Given the description of an element on the screen output the (x, y) to click on. 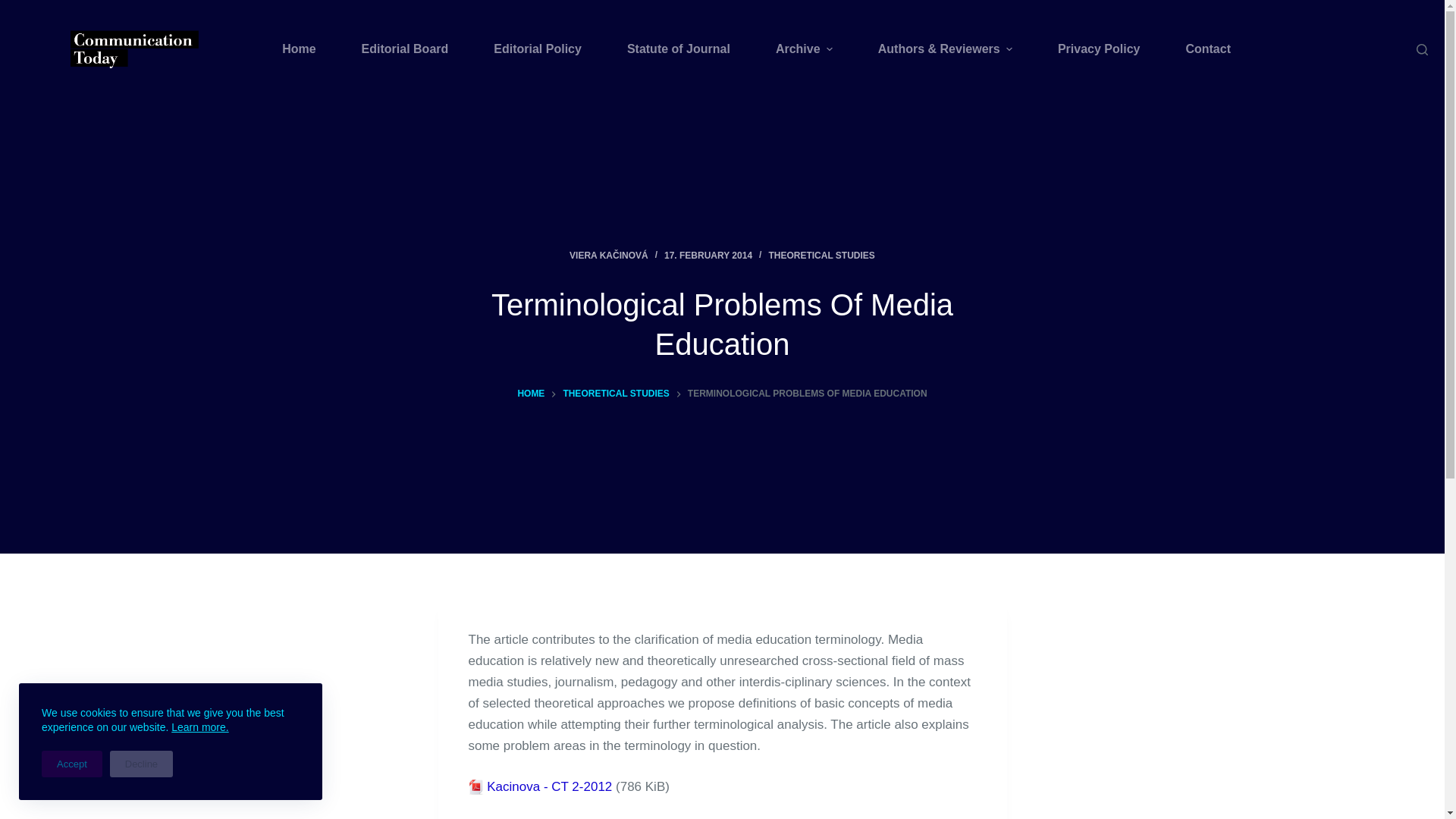
Skip to content (15, 7)
Editorial Policy (537, 49)
Decline (141, 764)
Editorial Board (405, 49)
Terminological Problems Of Media Education (722, 324)
Learn more. (199, 727)
Accept (71, 764)
Download Kacinova - CT 2-2012 (548, 786)
